Given the description of an element on the screen output the (x, y) to click on. 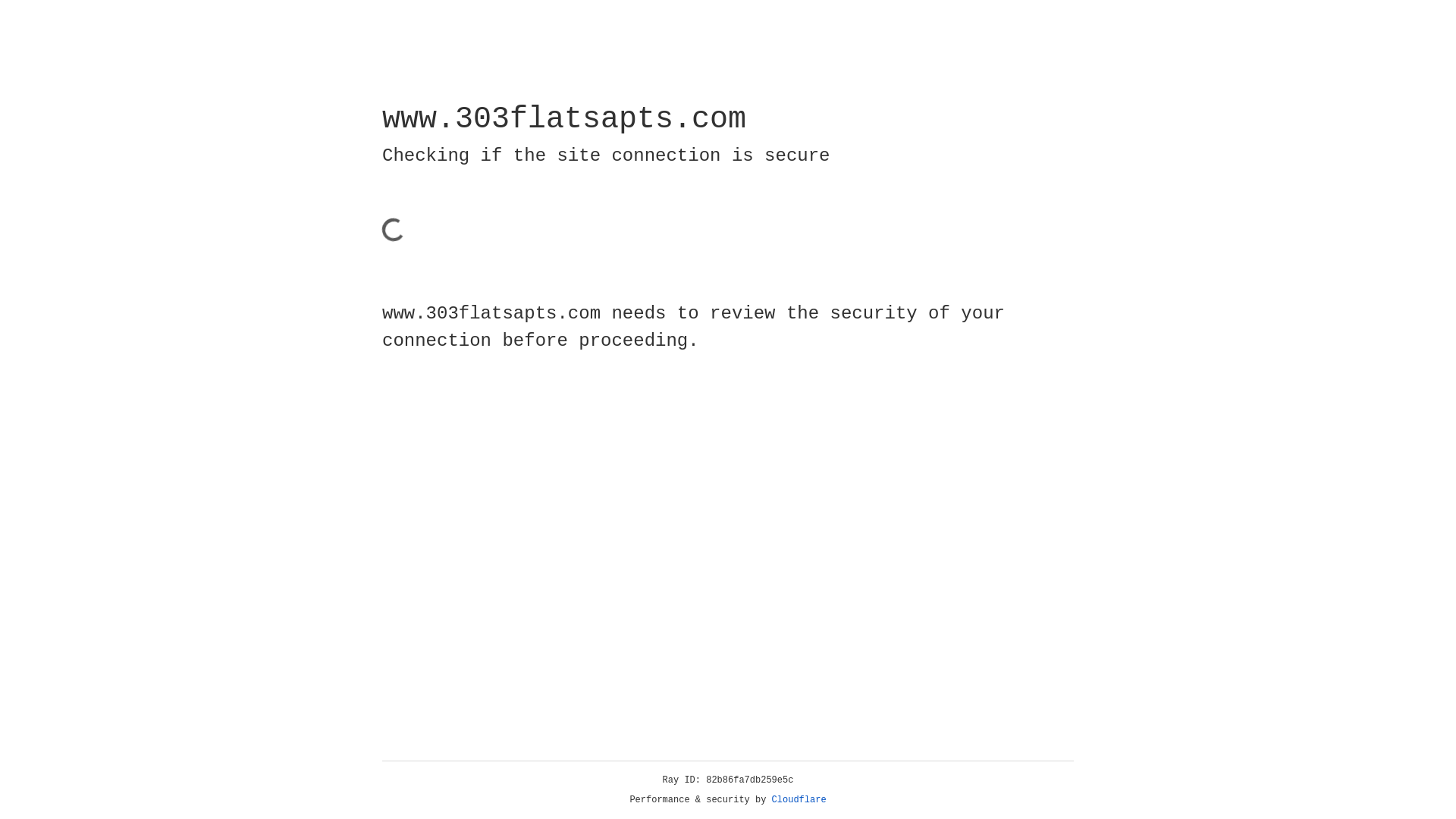
Cloudflare Element type: text (798, 799)
